Given the description of an element on the screen output the (x, y) to click on. 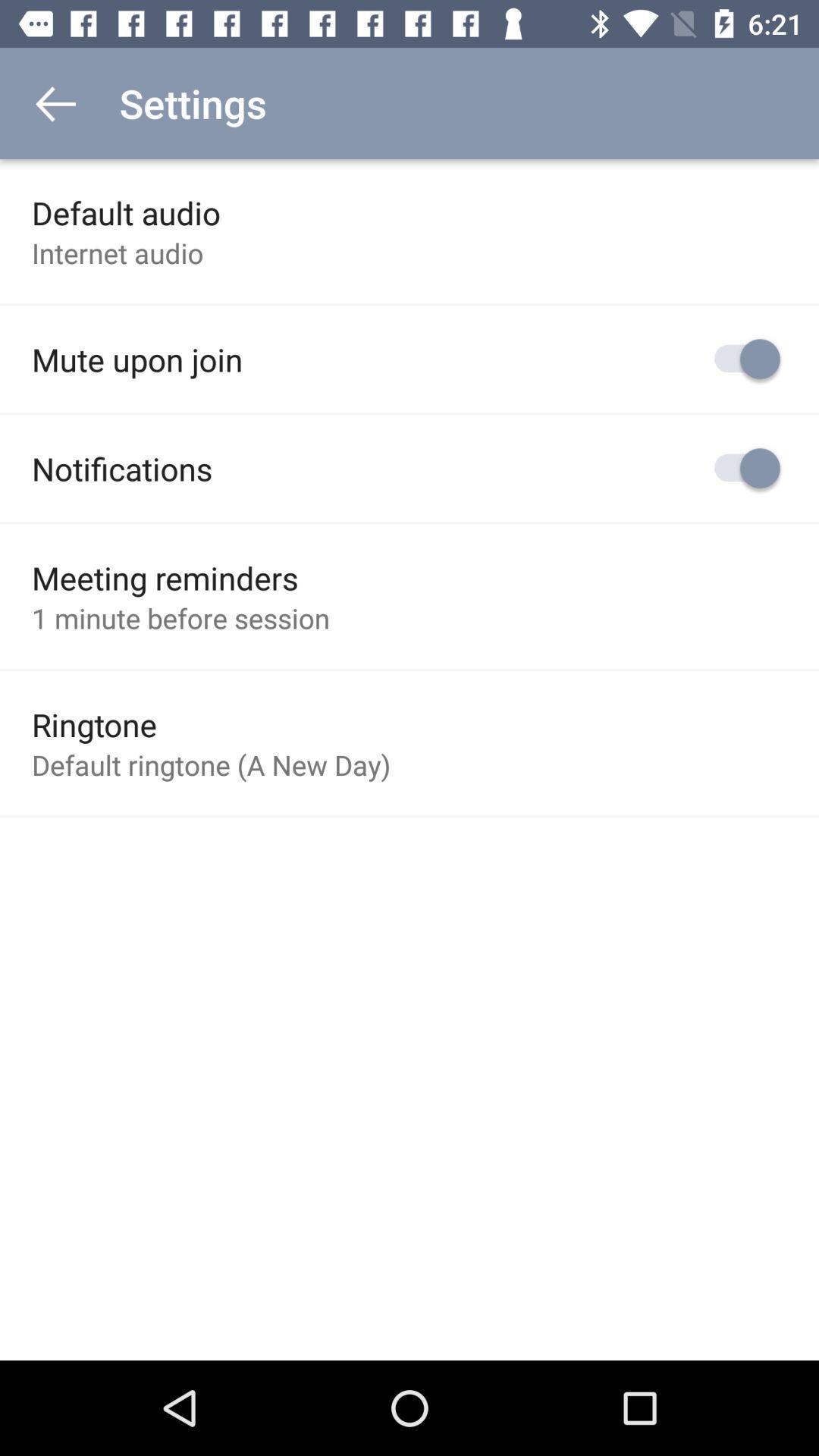
press default audio (125, 212)
